Given the description of an element on the screen output the (x, y) to click on. 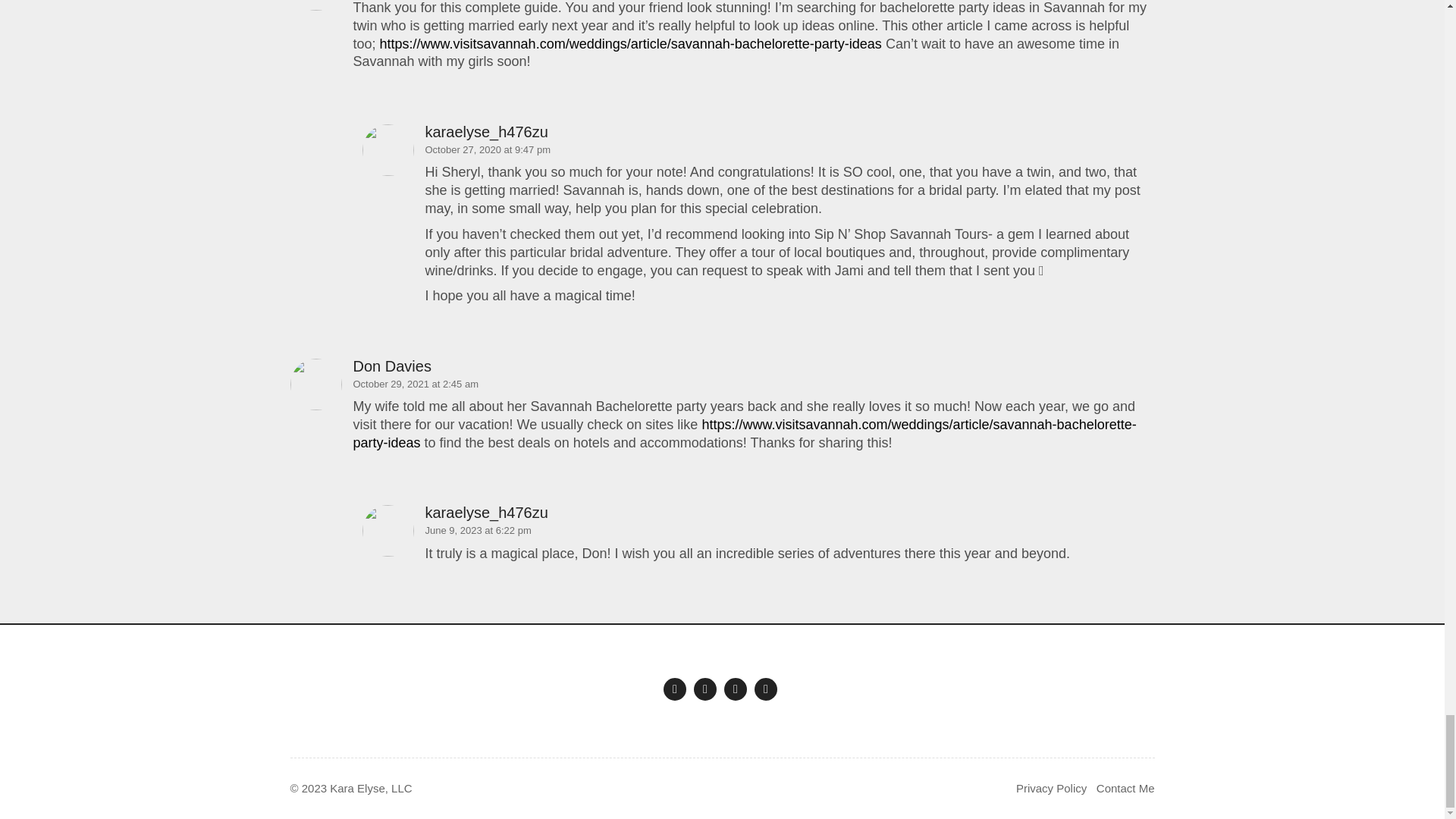
Email (765, 689)
Instagram (674, 689)
Spotify (734, 689)
Facebook (705, 689)
